Given the description of an element on the screen output the (x, y) to click on. 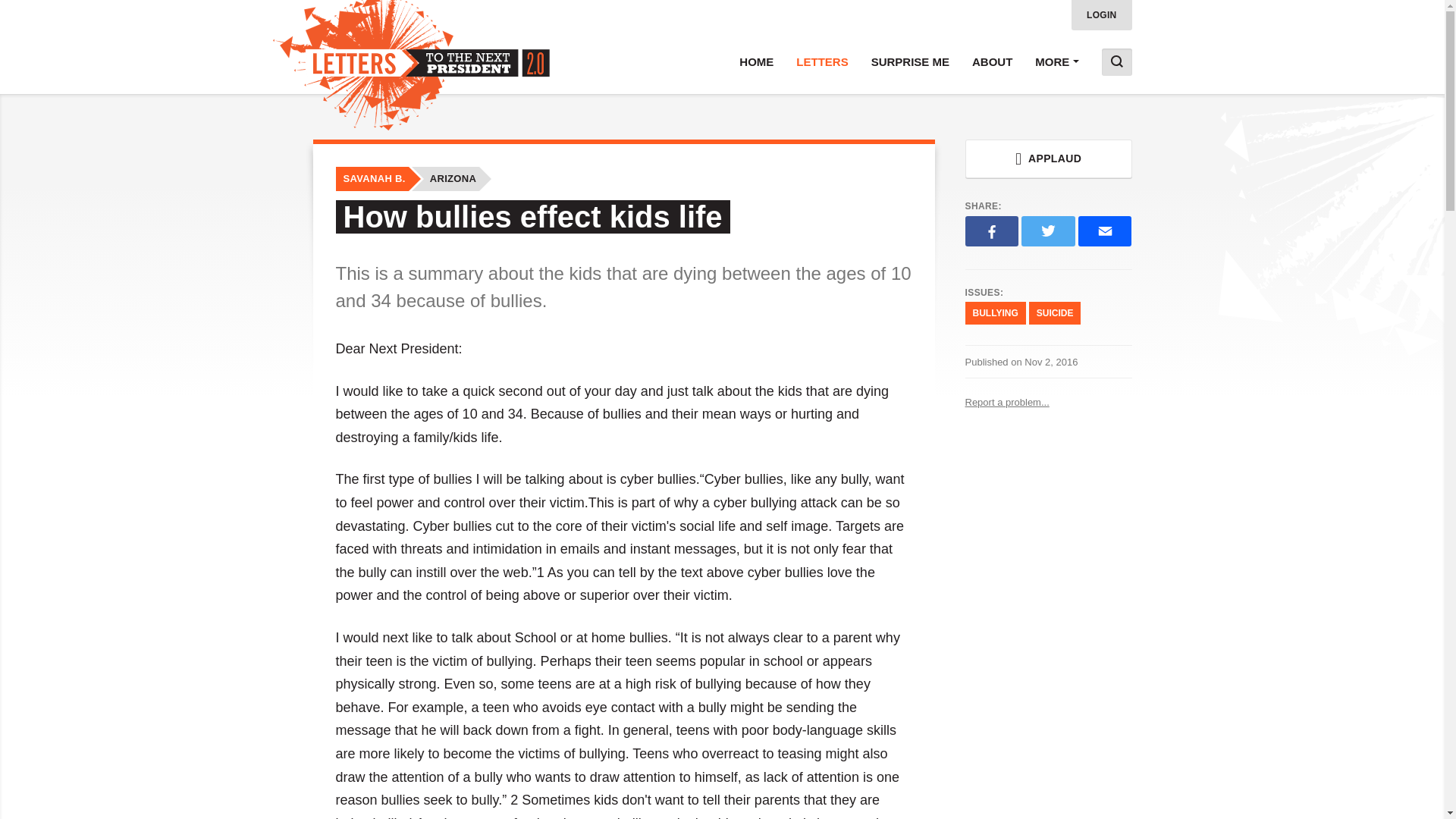
SURPRISE ME (910, 62)
LOGIN (1101, 15)
SUICIDE (1055, 313)
BULLYING (994, 313)
HOME (756, 62)
ABOUT (991, 62)
Report a problem... (1047, 402)
LETTERS (821, 62)
